Given the description of an element on the screen output the (x, y) to click on. 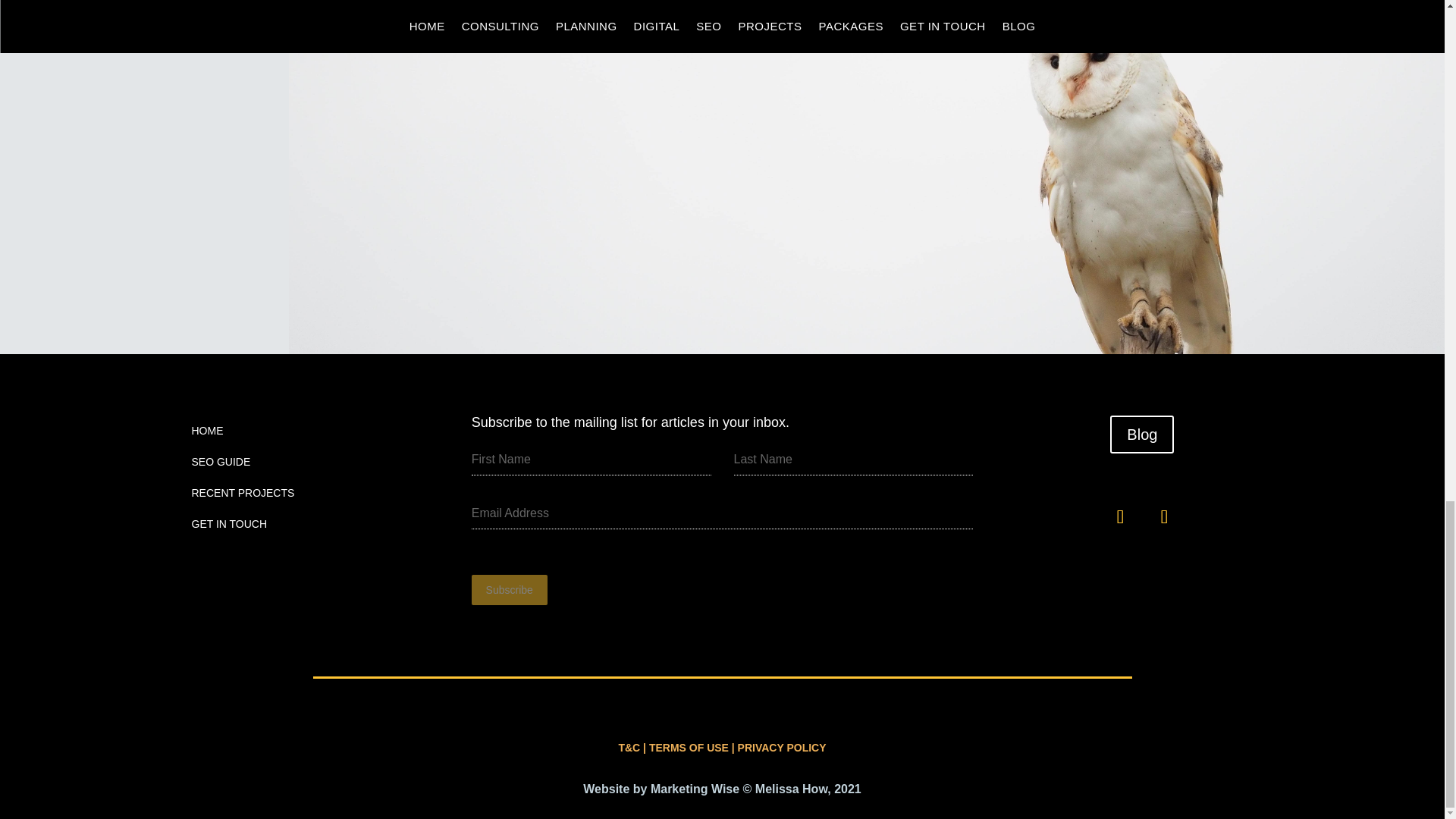
SEO GUIDE (220, 464)
Blog (1141, 434)
Subscribe (509, 589)
Follow on LinkedIn (1119, 516)
RECENT PROJECTS (242, 496)
Follow on LinkedIn (1163, 516)
HOME (206, 433)
PRIVACY POLICY (782, 747)
GET IN TOUCH (228, 527)
